Given the description of an element on the screen output the (x, y) to click on. 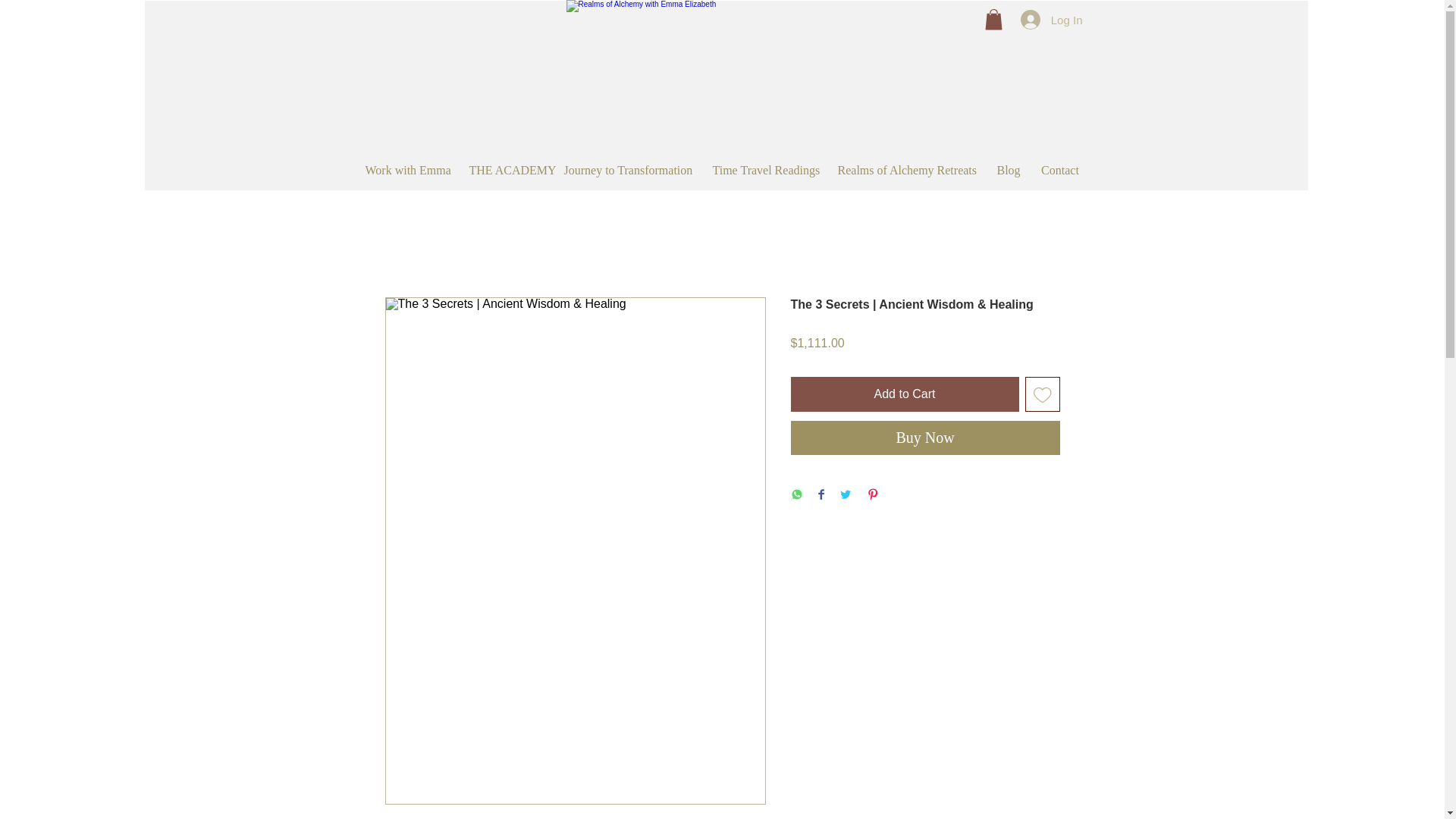
Work with Emma (405, 169)
Blog (1007, 169)
Time Travel Readings (762, 169)
Add to Cart (903, 393)
Journey to Transformation (625, 169)
THE ACADEMY (505, 169)
Buy Now (924, 437)
Contact (1059, 169)
Log In (1051, 19)
Realms of Alchemy Retreats (906, 169)
